Given the description of an element on the screen output the (x, y) to click on. 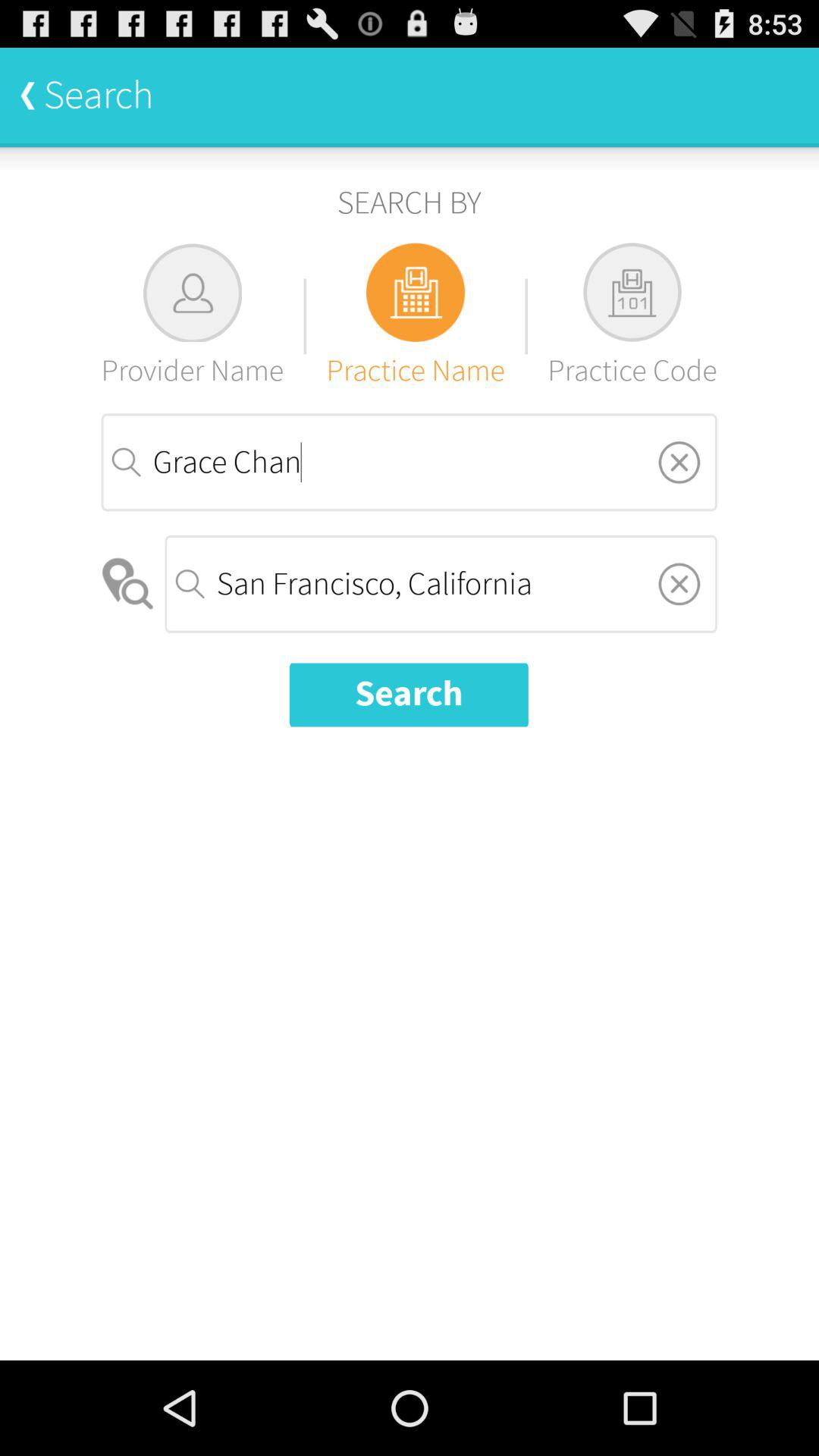
click item above grace chan (192, 316)
